Given the description of an element on the screen output the (x, y) to click on. 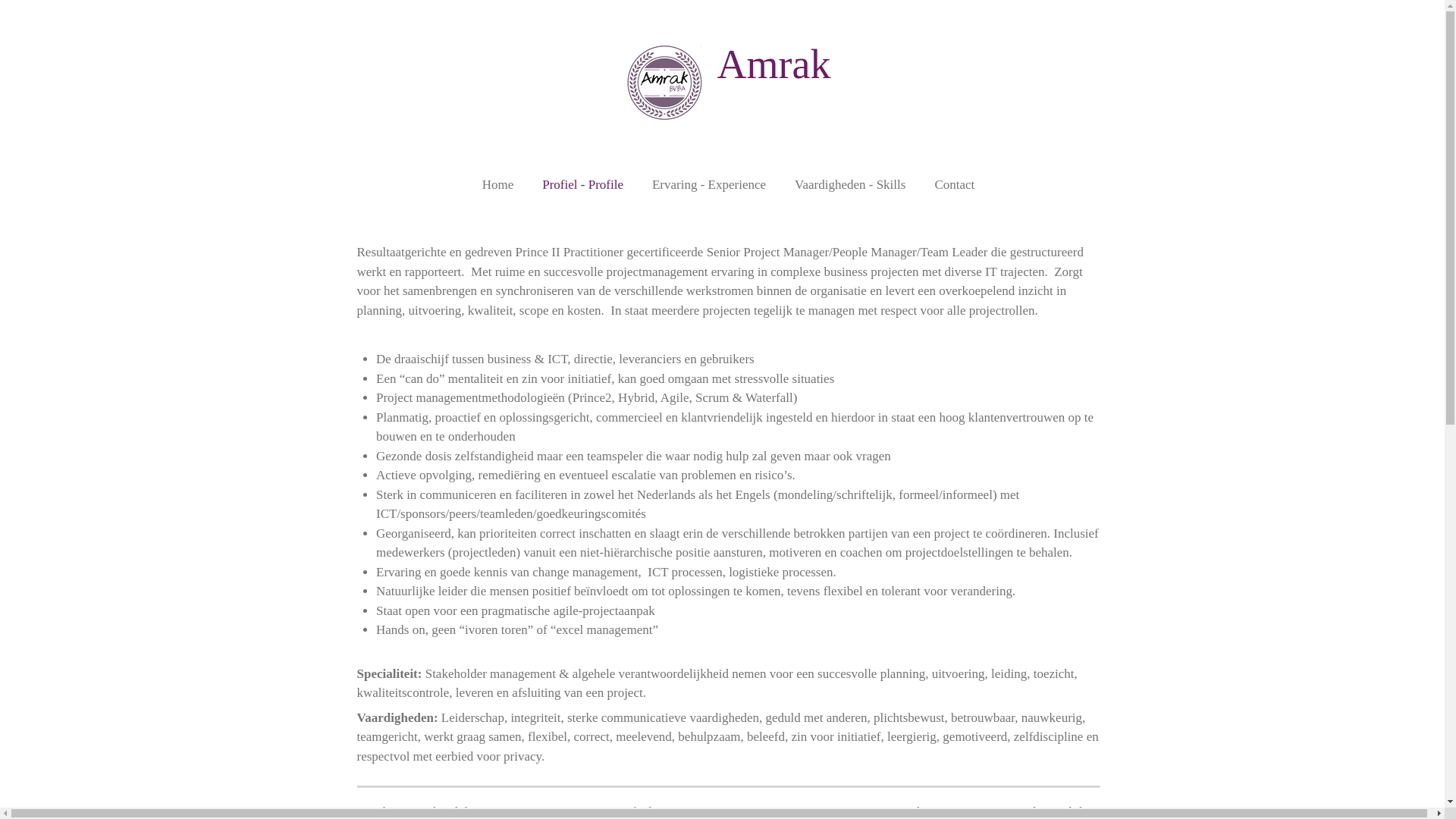
Home Element type: text (497, 184)
Contact Element type: text (954, 184)
Vaardigheden - Skills Element type: text (850, 184)
Amrak Element type: text (774, 64)
Profiel - Profile Element type: text (582, 184)
Amrak Element type: hover (664, 82)
Ervaring - Experience Element type: text (708, 184)
